Given the description of an element on the screen output the (x, y) to click on. 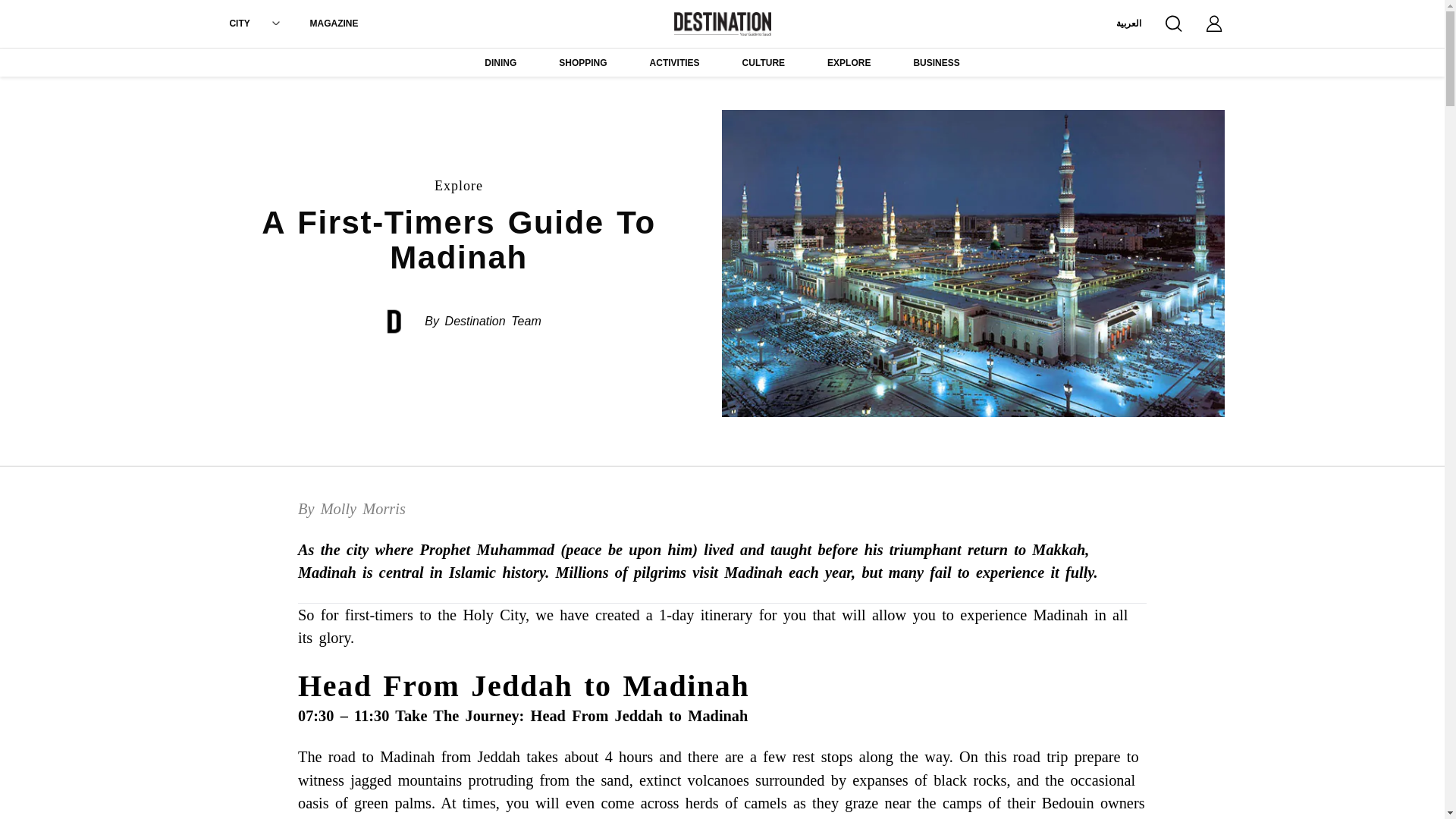
DINING (500, 64)
CULTURE (763, 64)
MAGAZINE (333, 23)
ACTIVITIES (674, 64)
EXPLORE (848, 64)
BUSINESS (935, 64)
Explore (458, 185)
By Destination Team (482, 321)
SHOPPING (583, 64)
